Given the description of an element on the screen output the (x, y) to click on. 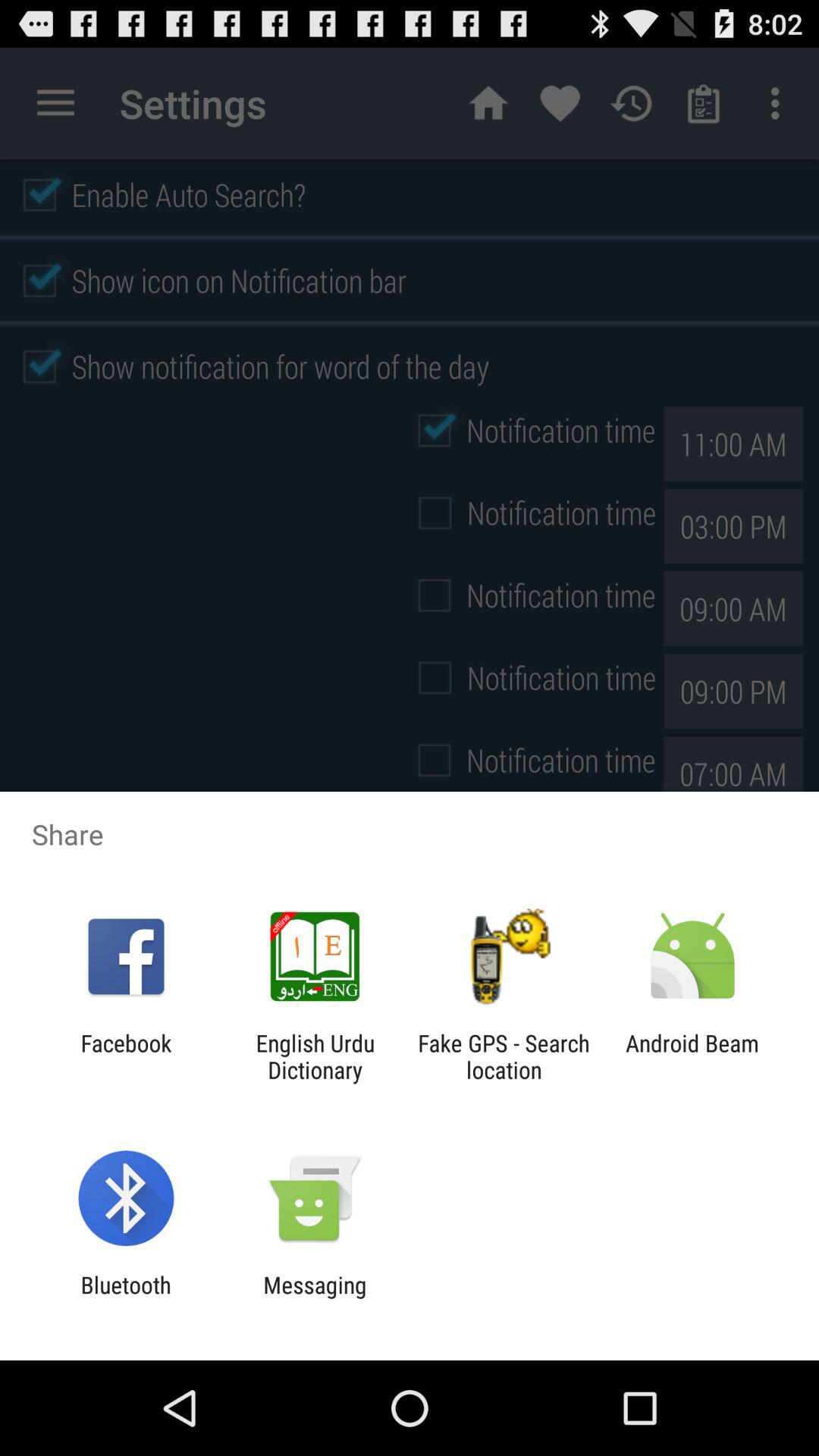
flip until the facebook (125, 1056)
